Given the description of an element on the screen output the (x, y) to click on. 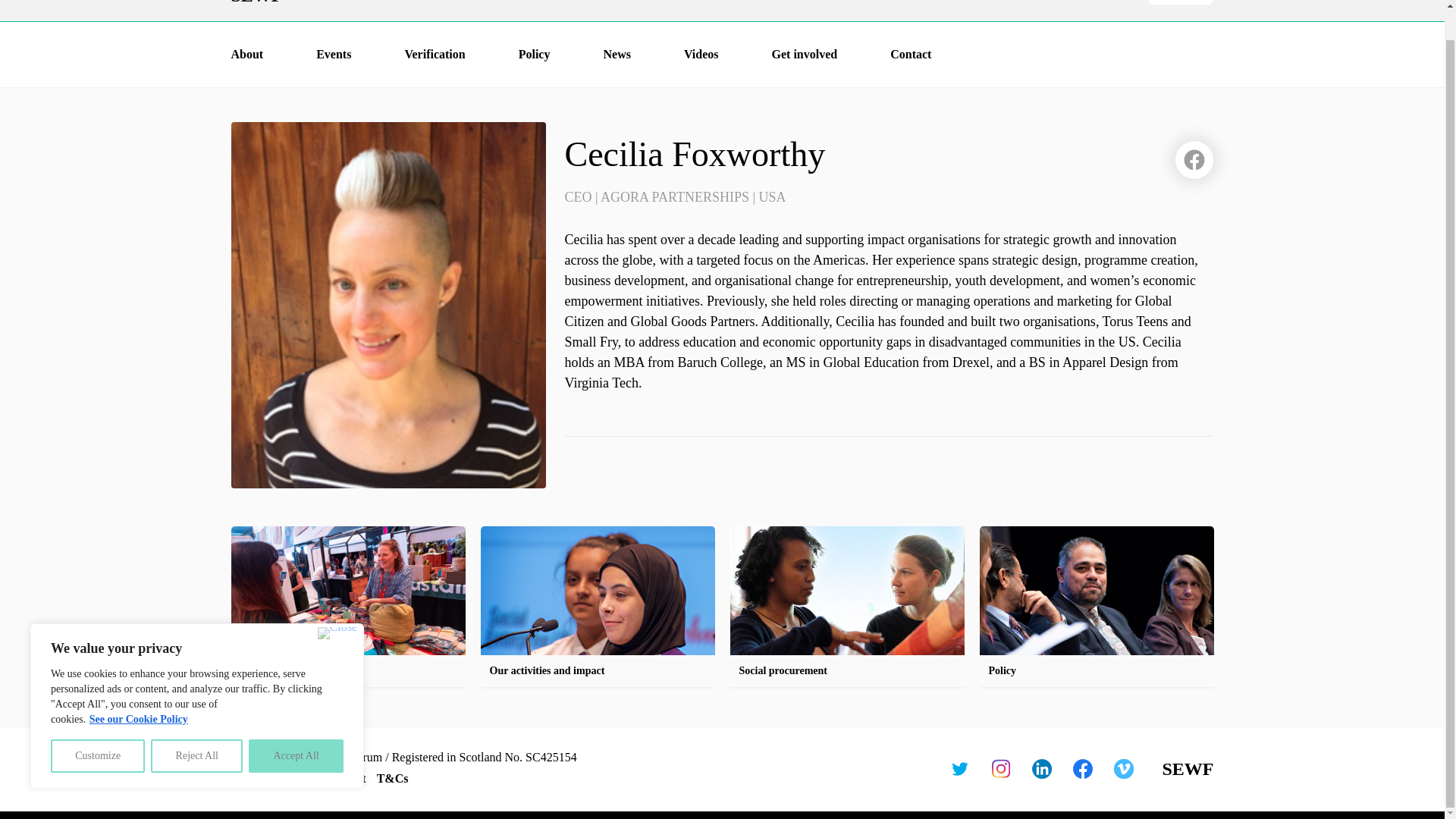
Accept All (295, 725)
Reject All (197, 725)
ENGLISH (1179, 2)
About (246, 54)
Events (332, 54)
Customize (97, 725)
See our Cookie Policy (138, 687)
